Given the description of an element on the screen output the (x, y) to click on. 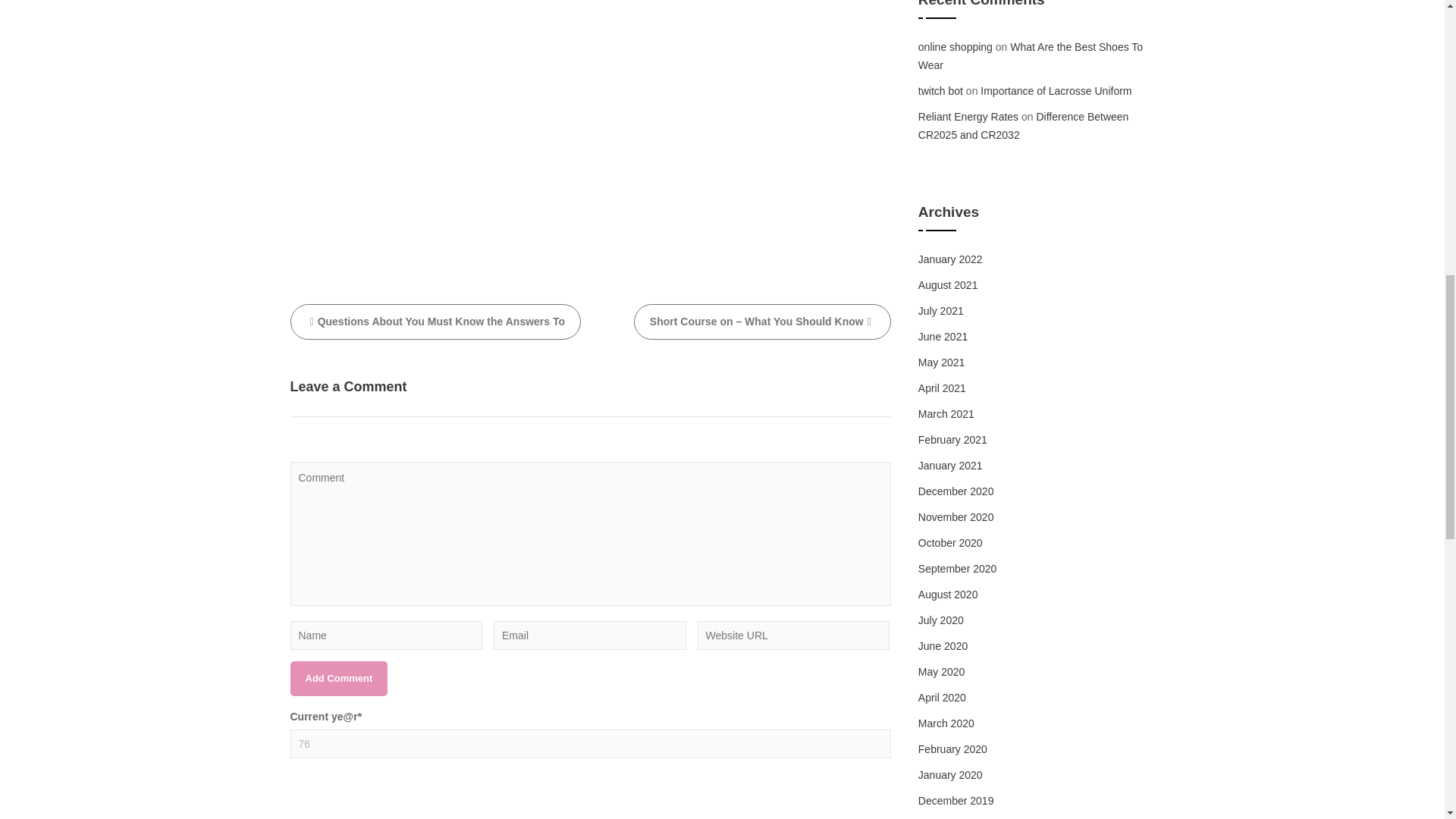
December 2020 (956, 491)
November 2020 (956, 517)
September 2020 (957, 568)
March 2021 (946, 413)
January 2022 (950, 259)
Importance of Lacrosse Uniform (1055, 91)
online shopping (955, 46)
July 2021 (940, 310)
twitch bot (940, 91)
Difference Between CR2025 and CR2032 (1023, 125)
